Given the description of an element on the screen output the (x, y) to click on. 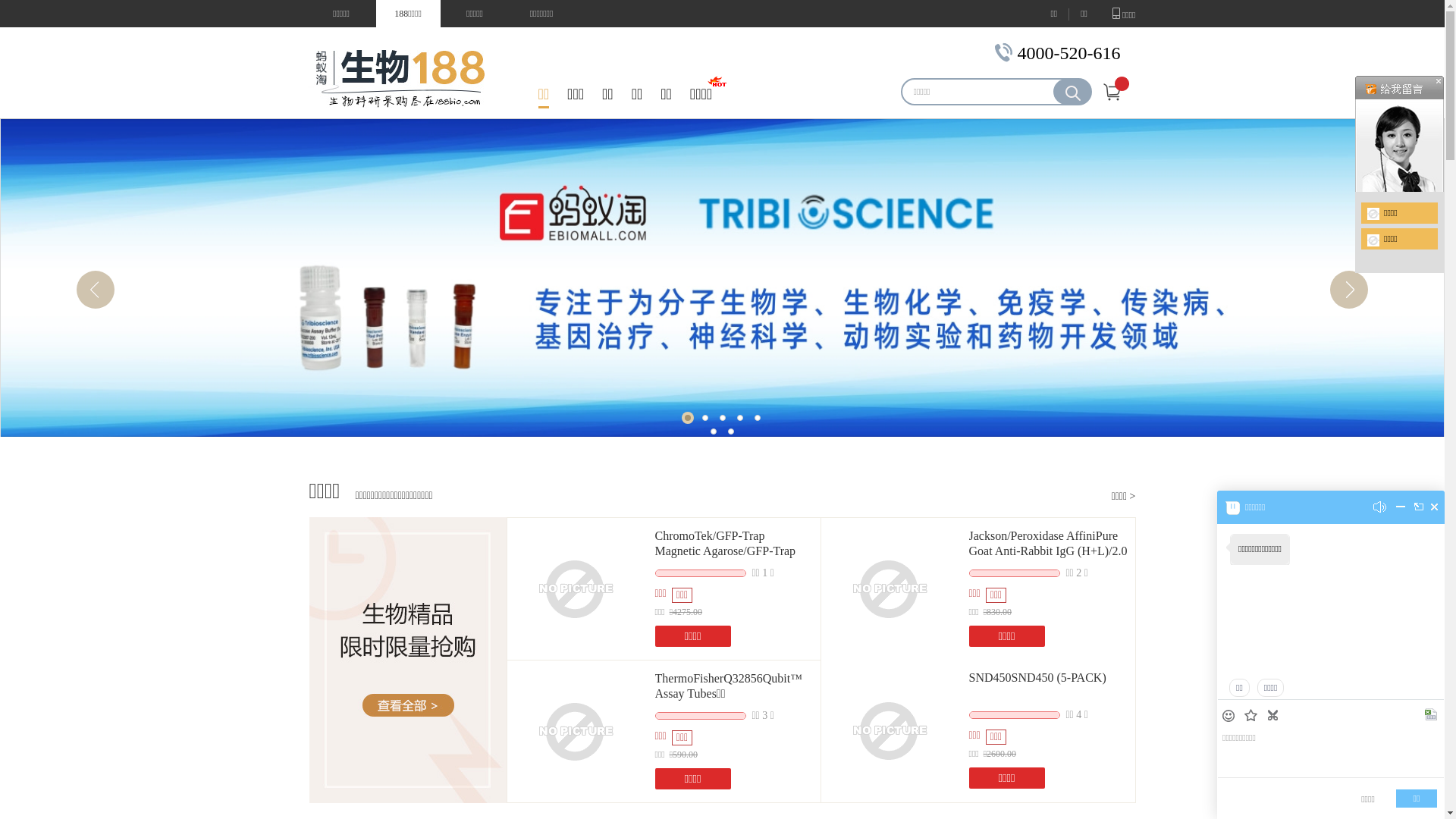
  Element type: text (1273, 715)
SND450SND450 (5-PACK) Element type: text (1037, 677)
  Element type: text (1229, 715)
  Element type: text (1430, 715)
SND450SND450 (5-PACK) Element type: hover (888, 730)
  Element type: text (1434, 506)
  Element type: text (1251, 716)
  Element type: text (1400, 509)
